Given the description of an element on the screen output the (x, y) to click on. 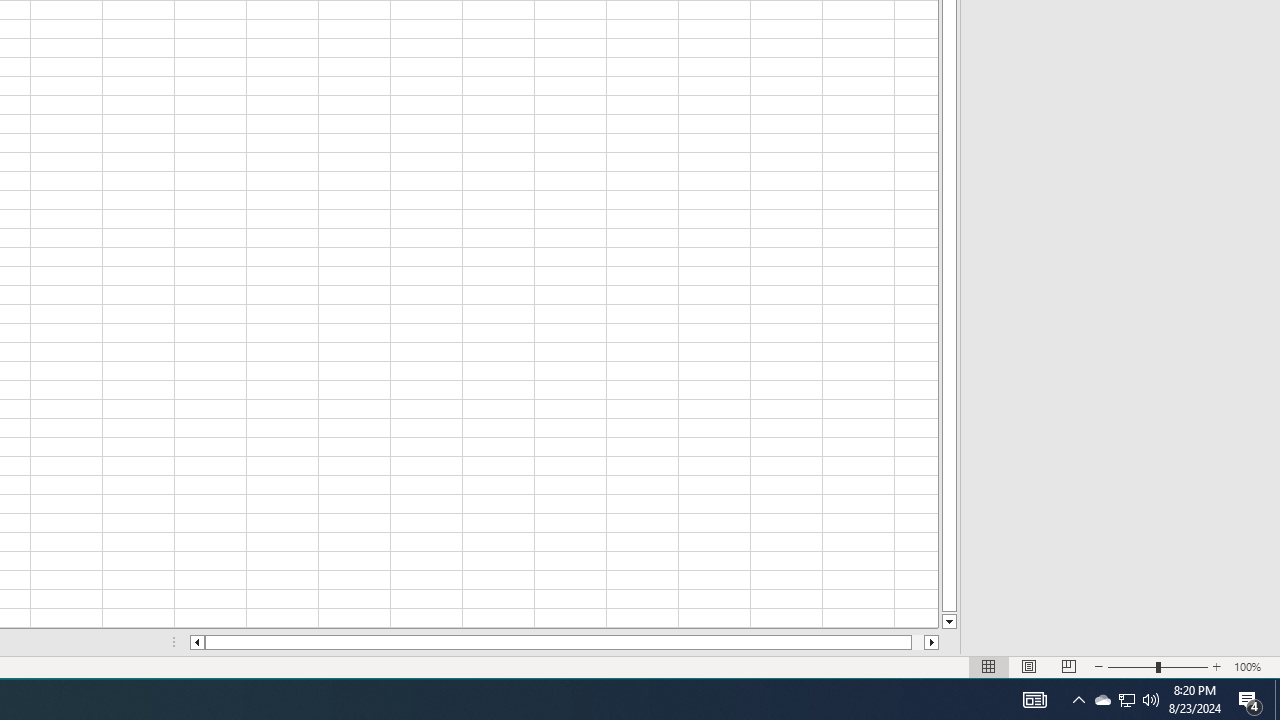
Page Layout (1028, 667)
Page Break Preview (1069, 667)
Zoom (1158, 667)
Zoom Out (1131, 667)
AutomationID: 4105 (1034, 699)
